Given the description of an element on the screen output the (x, y) to click on. 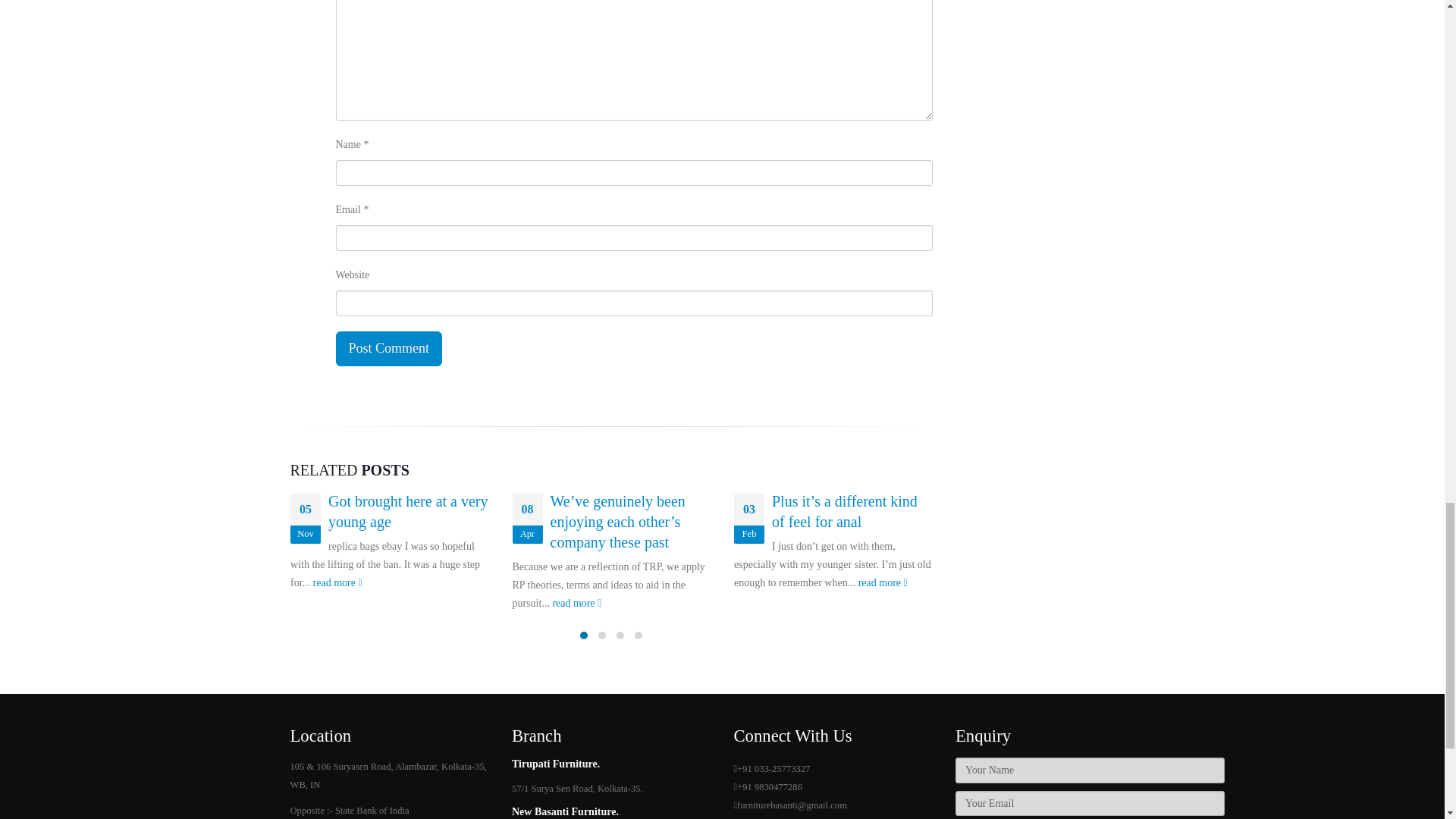
Post Comment (387, 348)
